Given the description of an element on the screen output the (x, y) to click on. 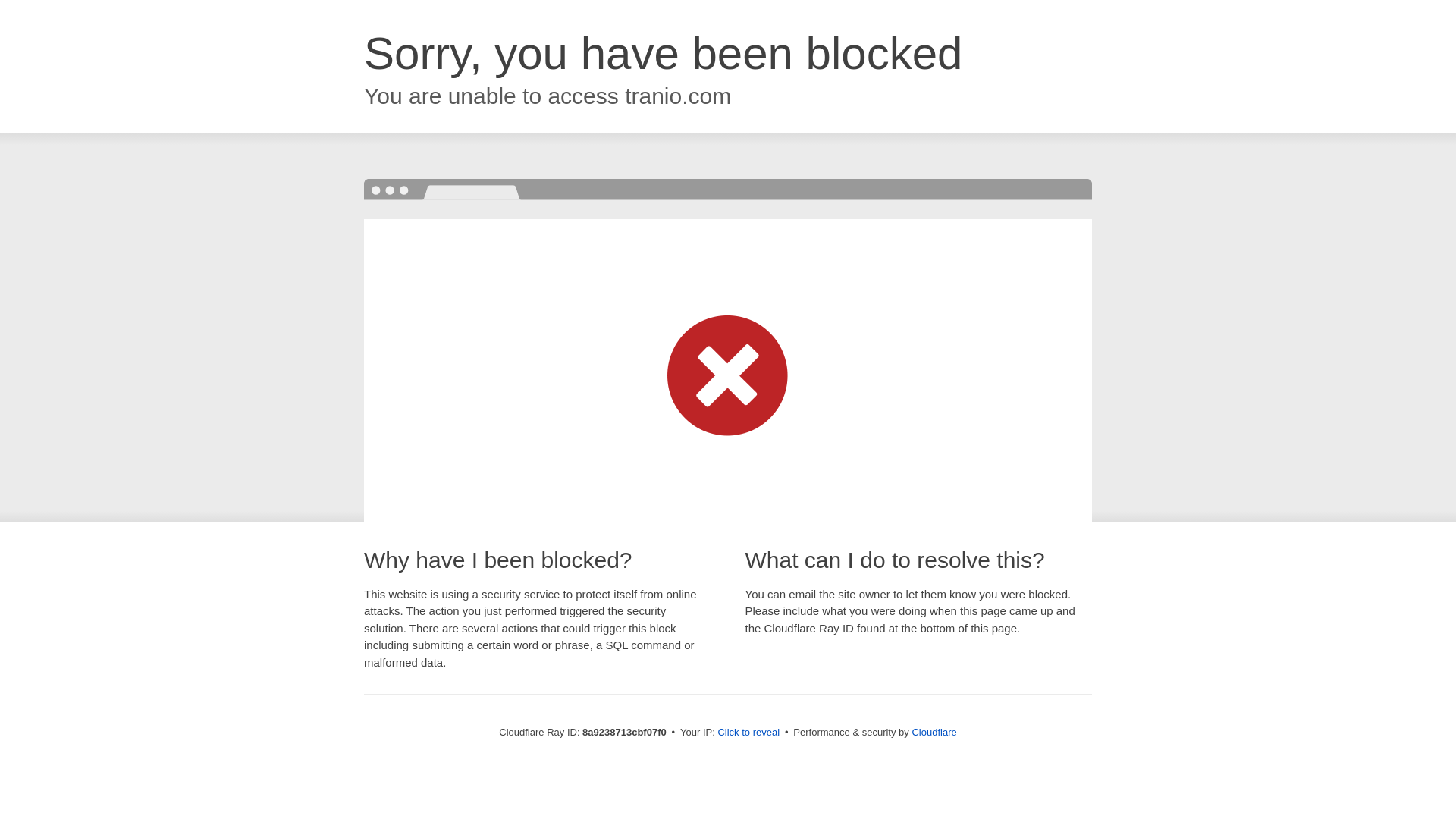
Click to reveal (747, 732)
Cloudflare (933, 731)
